Given the description of an element on the screen output the (x, y) to click on. 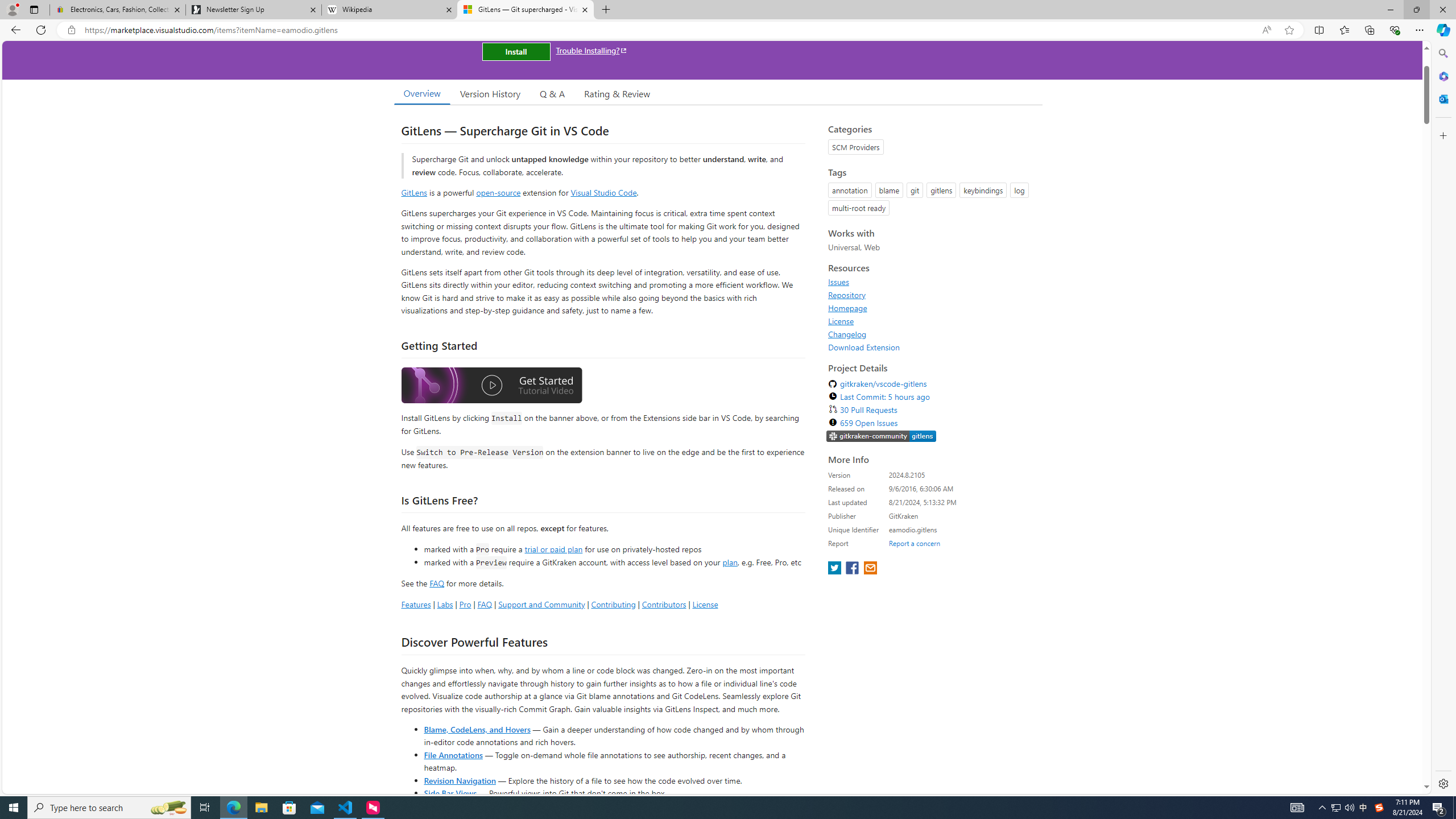
Homepage (931, 307)
Blame, CodeLens, and Hovers (476, 728)
Download Extension (931, 346)
Repository (931, 294)
Revision Navigation (459, 780)
License (931, 320)
